Given the description of an element on the screen output the (x, y) to click on. 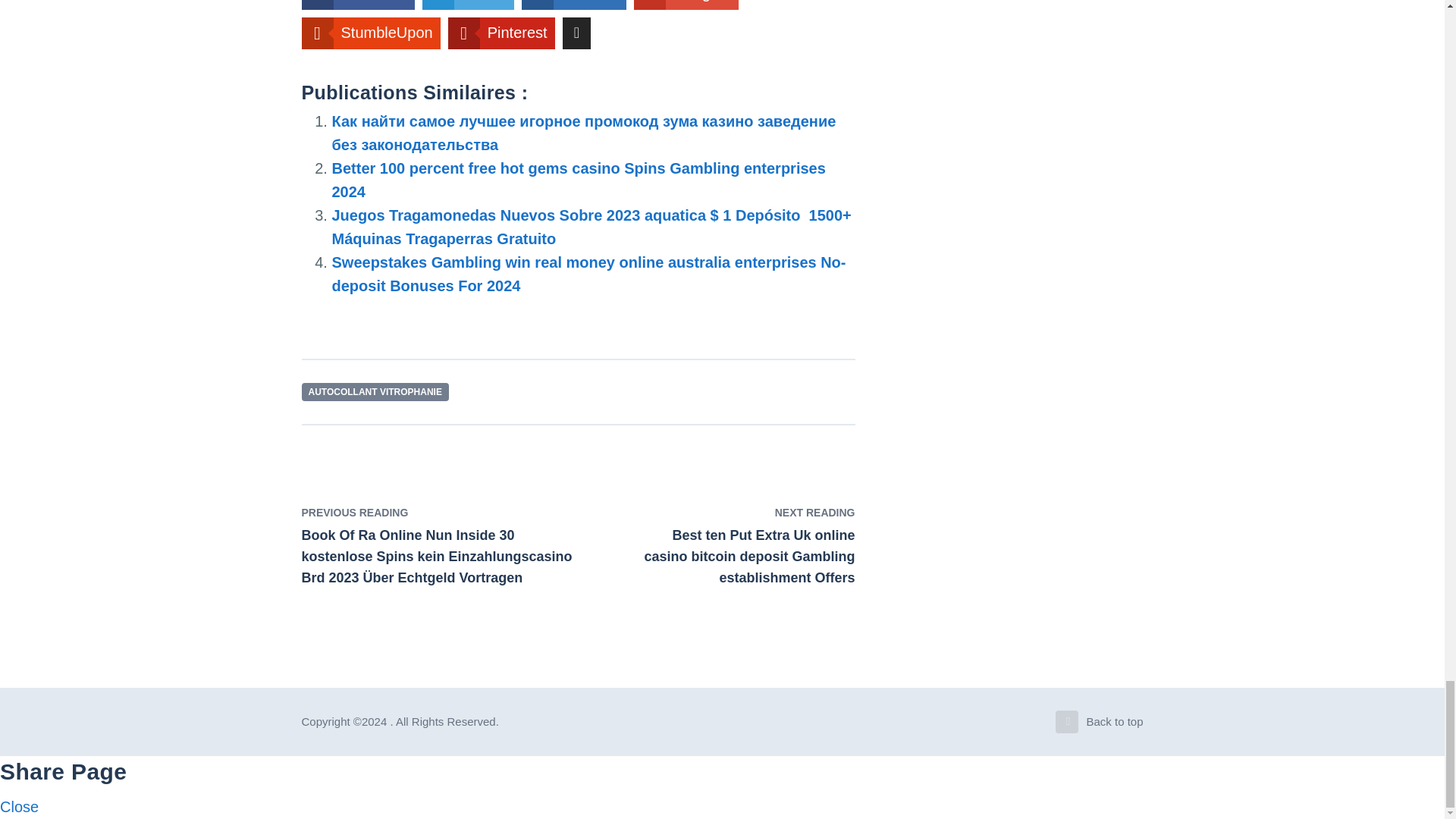
AUTOCOLLANT VITROPHANIE (374, 392)
Twitter (467, 4)
Pinterest (501, 33)
Back to top (1098, 721)
Facebook (357, 4)
LinkedIn (573, 4)
StumbleUpon (371, 33)
